Given the description of an element on the screen output the (x, y) to click on. 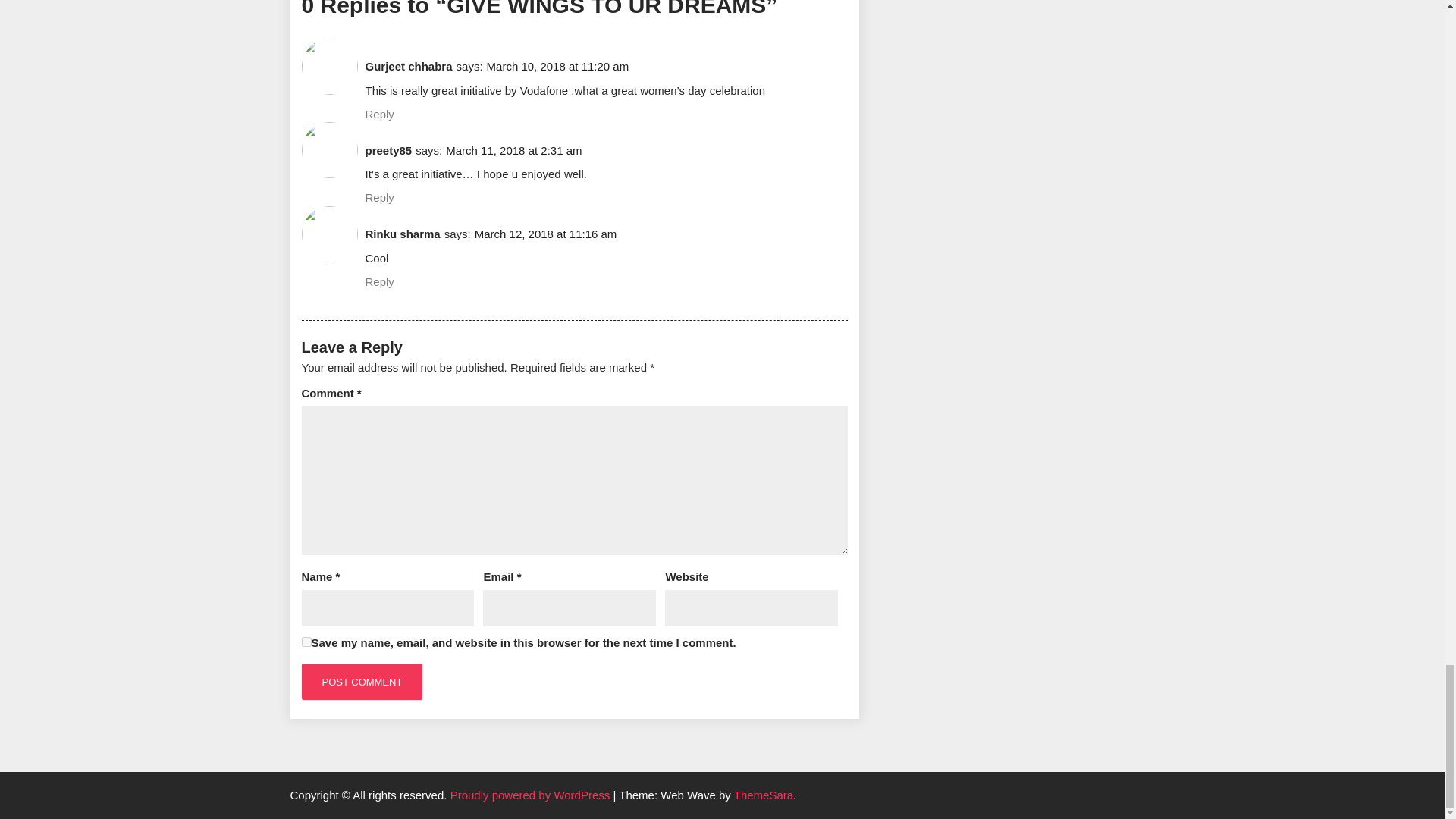
March 10, 2018 at 11:20 am (557, 65)
Post Comment (362, 681)
yes (306, 642)
